Given the description of an element on the screen output the (x, y) to click on. 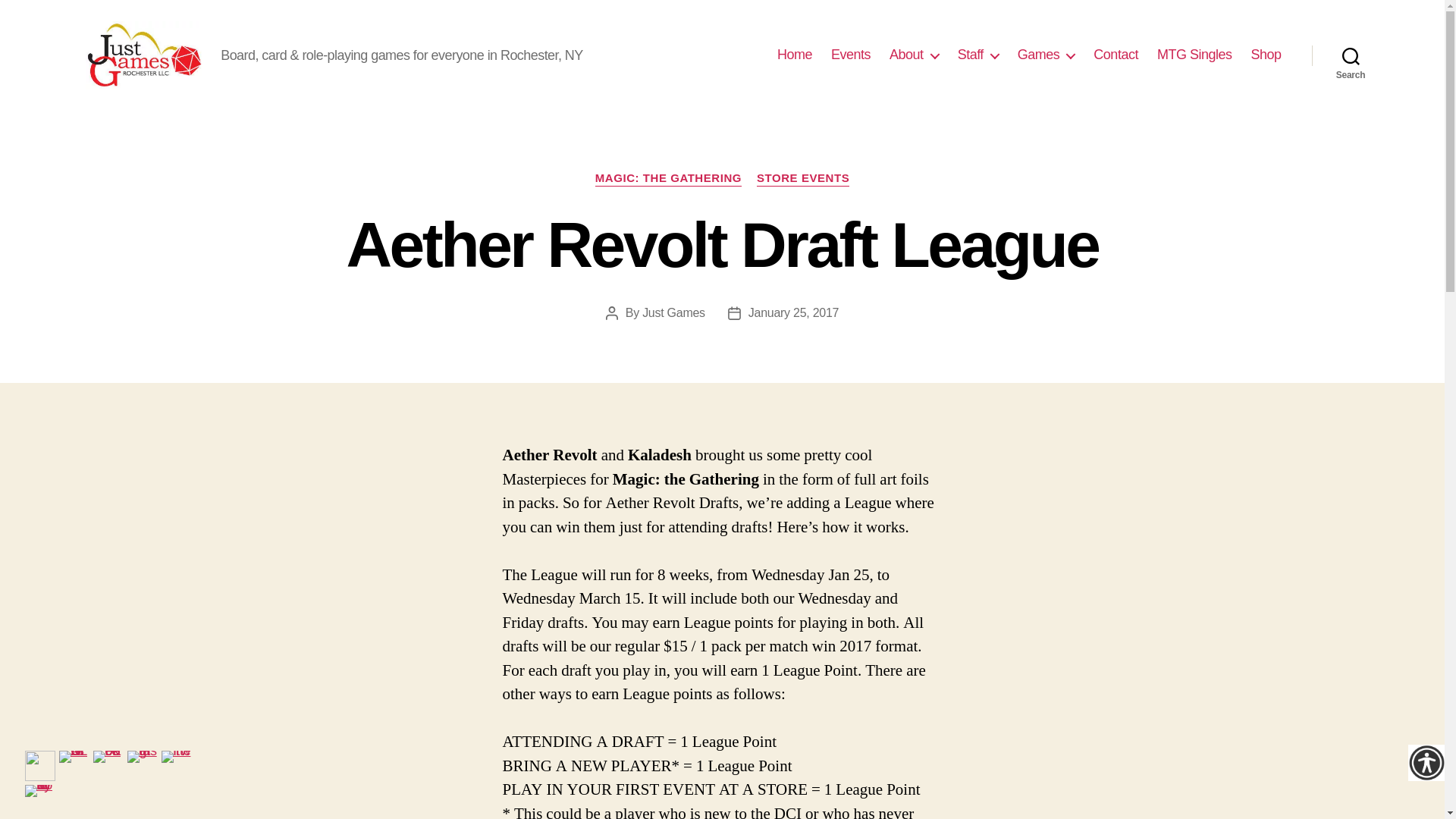
Twitter (175, 766)
SOCIALICON (73, 766)
Shop (1265, 54)
Staff (978, 54)
Instagram (142, 766)
About (914, 54)
Search (1350, 55)
Home (794, 54)
Contact (1115, 54)
MTG Singles (1194, 54)
